Given the description of an element on the screen output the (x, y) to click on. 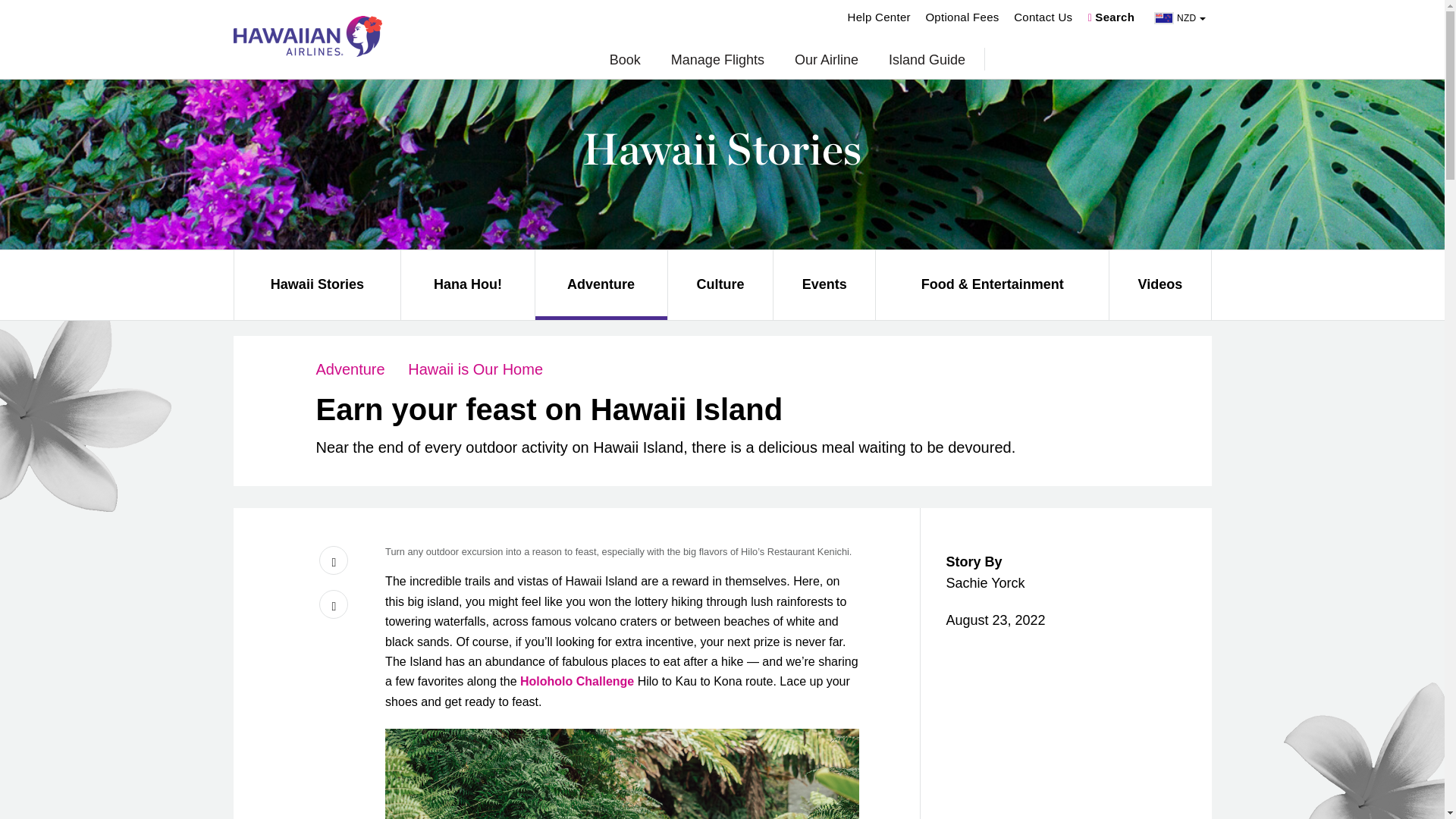
Hawaii is Our Home (475, 369)
Adventure (349, 369)
Our Airline (826, 61)
Optional Fees (961, 16)
Visit Us On Twitter (332, 604)
Search (1111, 17)
Adventure (600, 284)
Events (824, 284)
Hawaii Stories (316, 284)
Manage Flights (717, 61)
Visit Us On Facebook (332, 560)
Island Guide (926, 61)
Videos (1159, 284)
Culture (720, 284)
Contact Us (1042, 16)
